Given the description of an element on the screen output the (x, y) to click on. 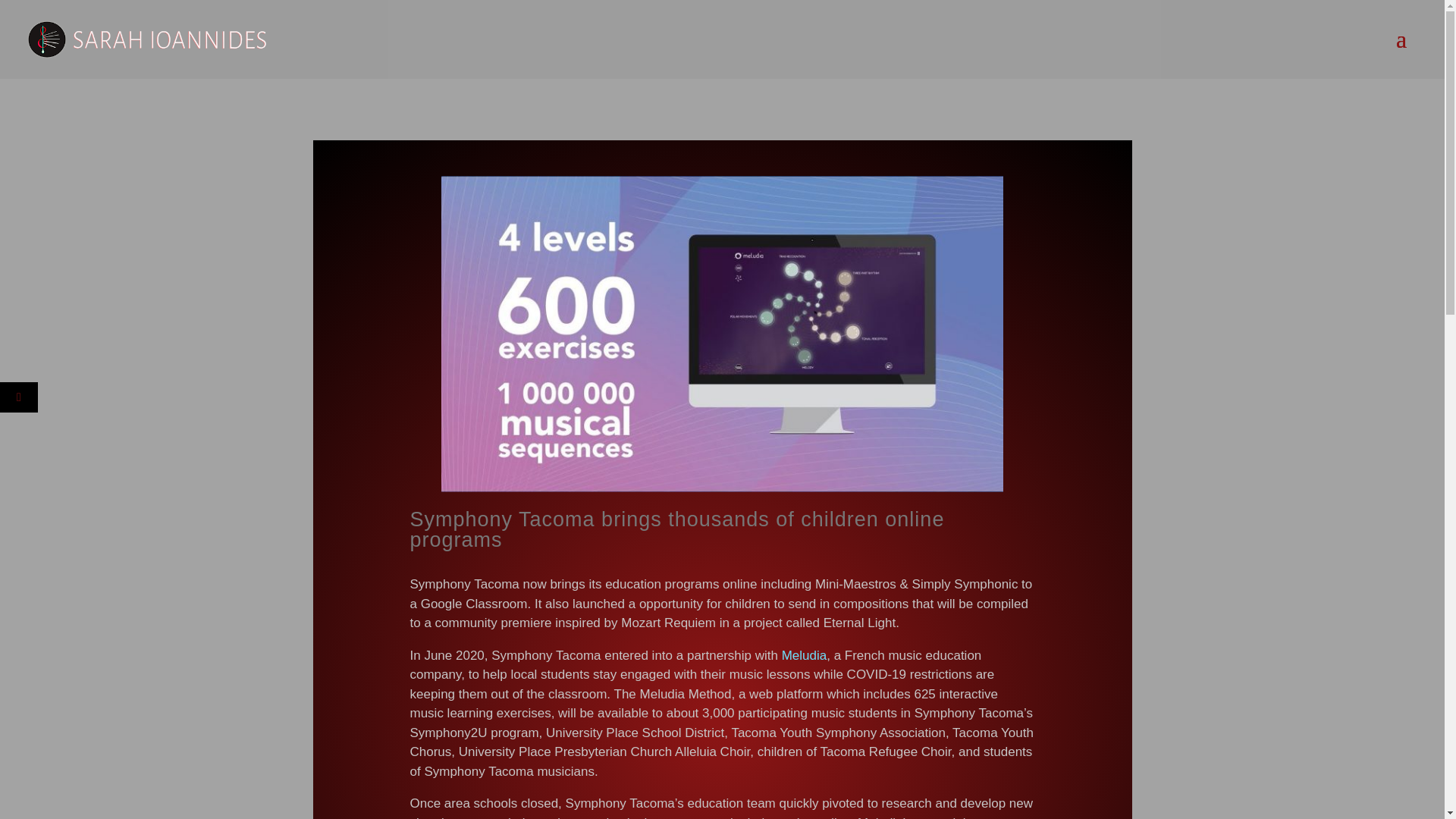
Meludia (804, 655)
